Given the description of an element on the screen output the (x, y) to click on. 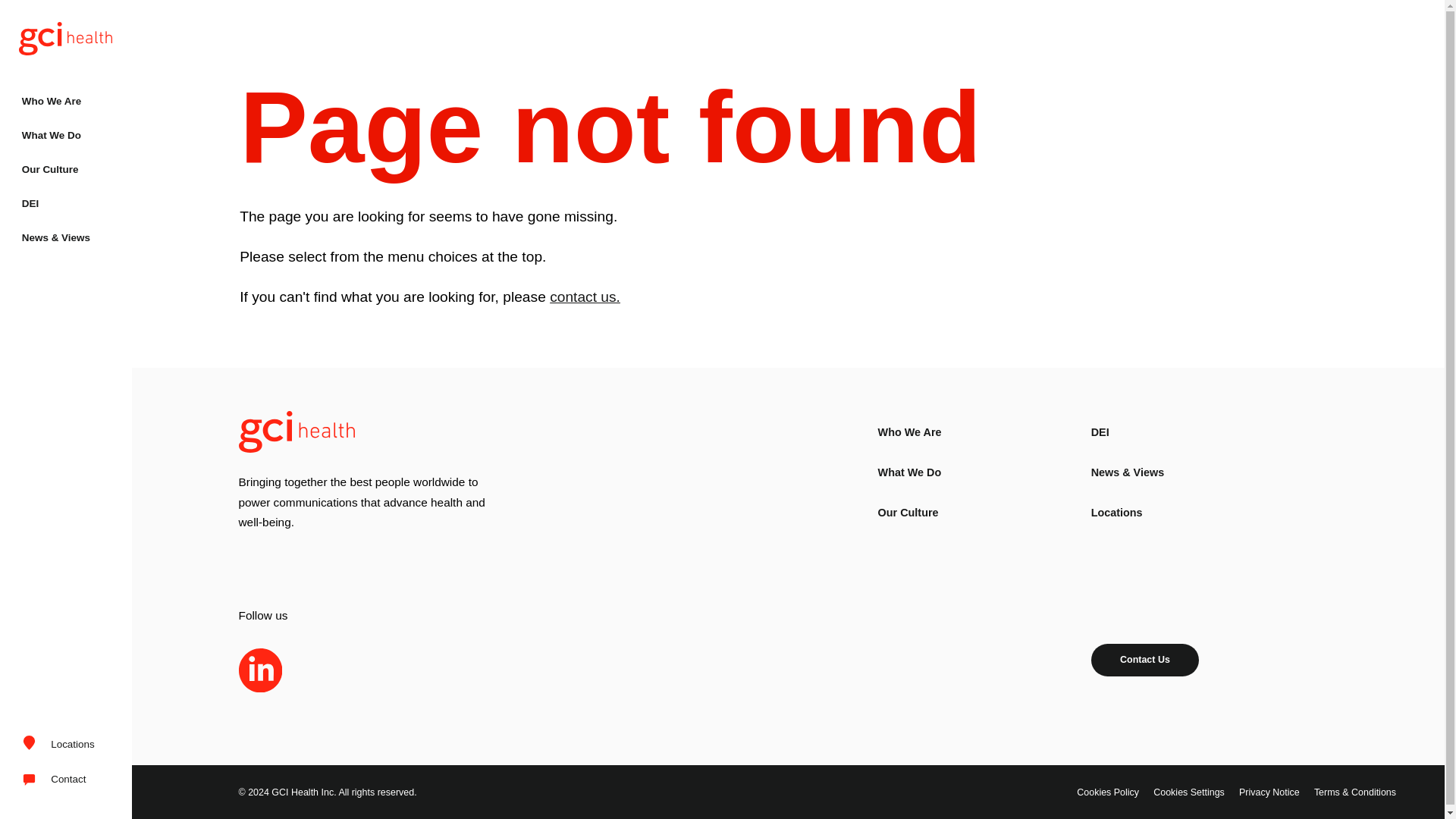
Follow us on Facebook (369, 670)
Cookies Settings (1188, 792)
Follow us on Instagram (315, 670)
Contact (58, 779)
Locations (1116, 512)
Privacy Notice (1269, 792)
Our Culture (66, 169)
DEI (1099, 431)
DEI (66, 203)
Our Culture (908, 512)
What We Do (909, 472)
Who We Are (909, 431)
gci health (66, 38)
What We Do (66, 134)
Follow us on Linkedin (260, 670)
